Given the description of an element on the screen output the (x, y) to click on. 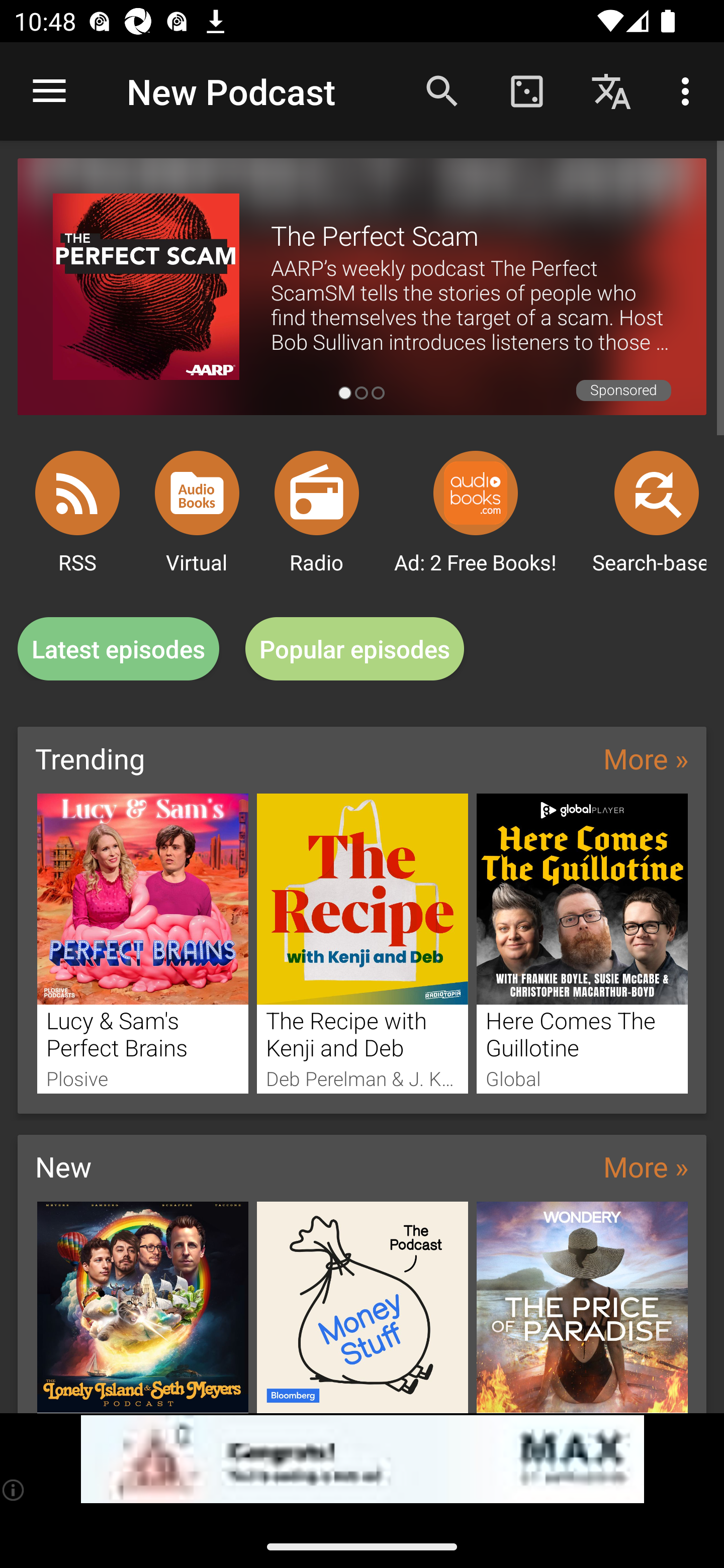
Open navigation sidebar (49, 91)
Search (442, 90)
Random pick (526, 90)
Podcast languages (611, 90)
More options (688, 90)
RSS (77, 492)
Virtual (196, 492)
Radio (316, 492)
Search-based (656, 492)
Latest episodes (118, 648)
Popular episodes (354, 648)
More » (645, 757)
Lucy & Sam's Perfect Brains Plosive (142, 942)
Here Comes The Guillotine Global (581, 942)
More » (645, 1166)
The Lonely Island and Seth Meyers Podcast (142, 1306)
Money Stuff: The Podcast (362, 1306)
The Price of Paradise (581, 1306)
app-monetization (362, 1459)
(i) (14, 1489)
